Given the description of an element on the screen output the (x, y) to click on. 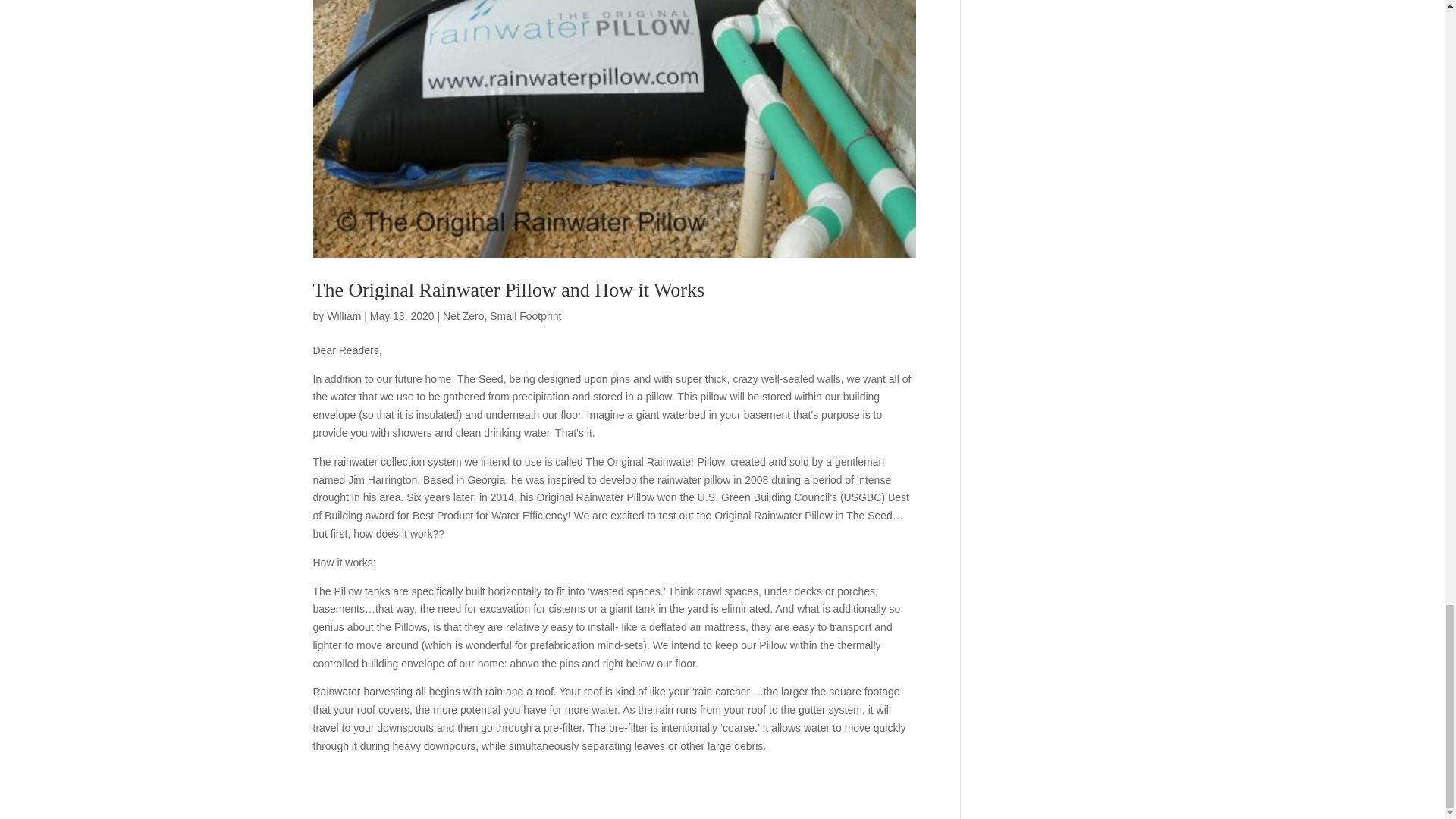
The Original Rainwater Pillow and How it Works (508, 290)
William (343, 316)
Posts by William (343, 316)
Net Zero (462, 316)
Small Footprint (524, 316)
